Given the description of an element on the screen output the (x, y) to click on. 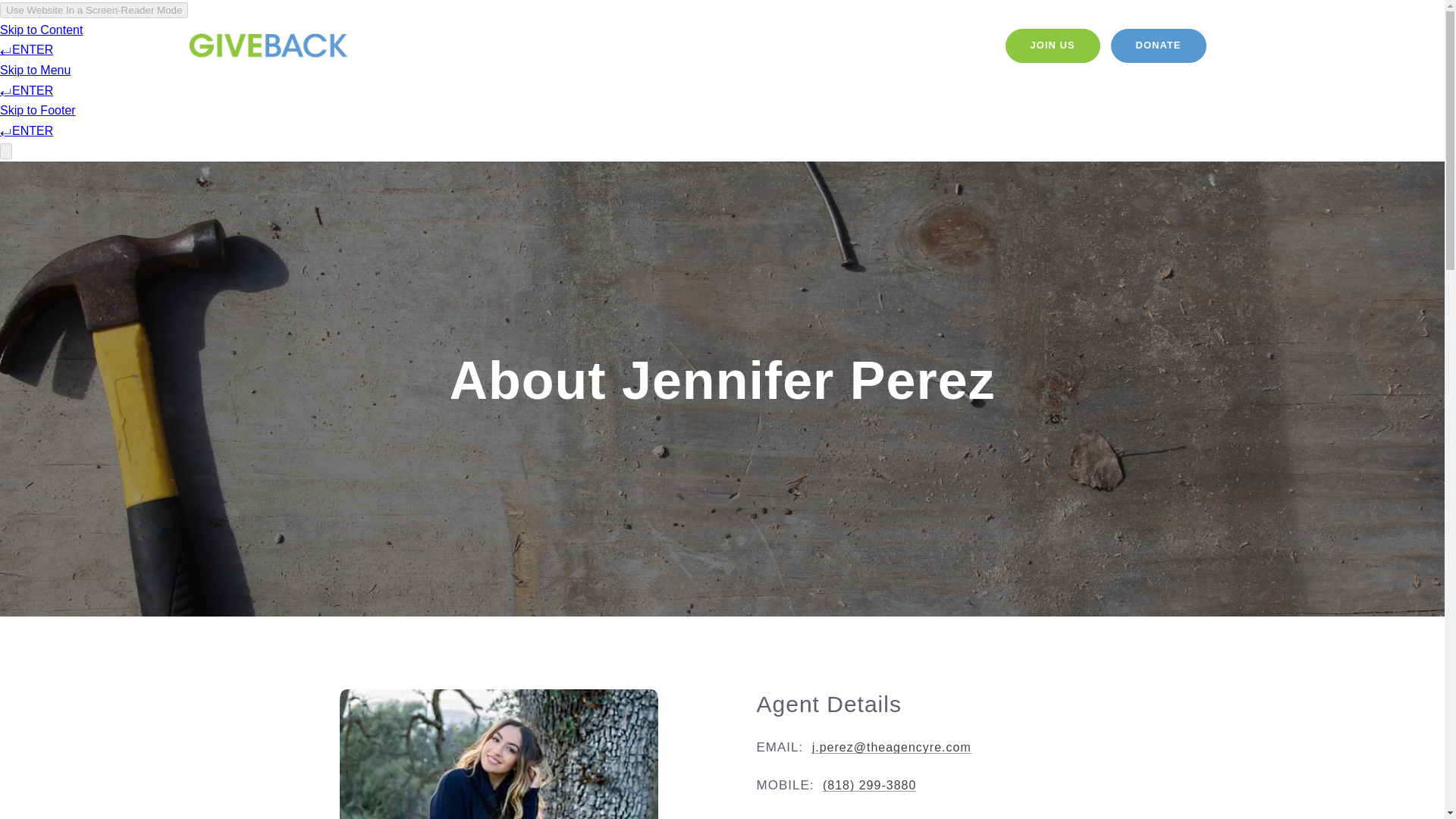
DONATE (1158, 45)
MEDIA (966, 45)
JOIN US (1053, 45)
ABOUT US (793, 45)
OUR PROJECTS (885, 45)
